Given the description of an element on the screen output the (x, y) to click on. 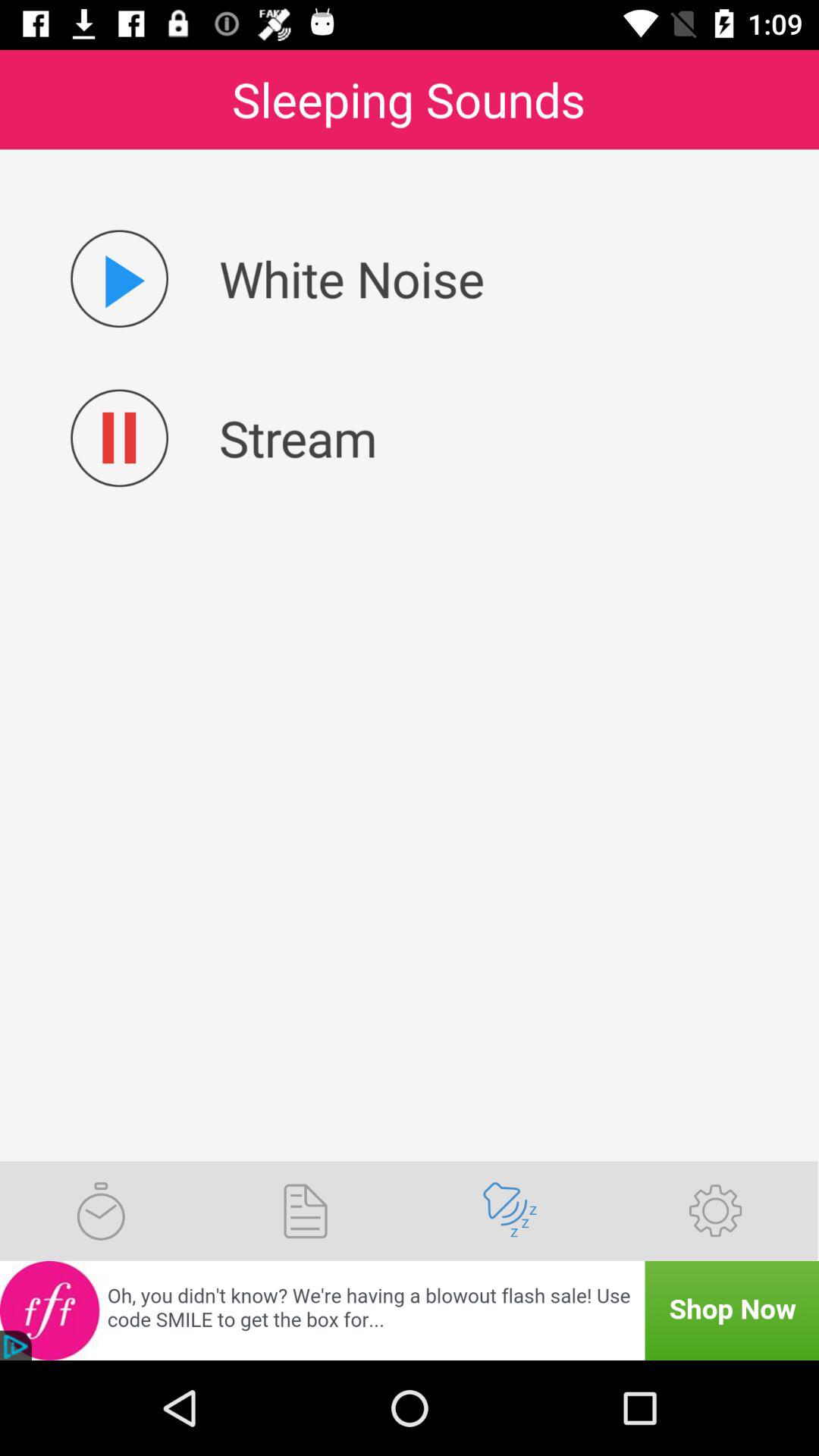
open advertisement (409, 1310)
